Given the description of an element on the screen output the (x, y) to click on. 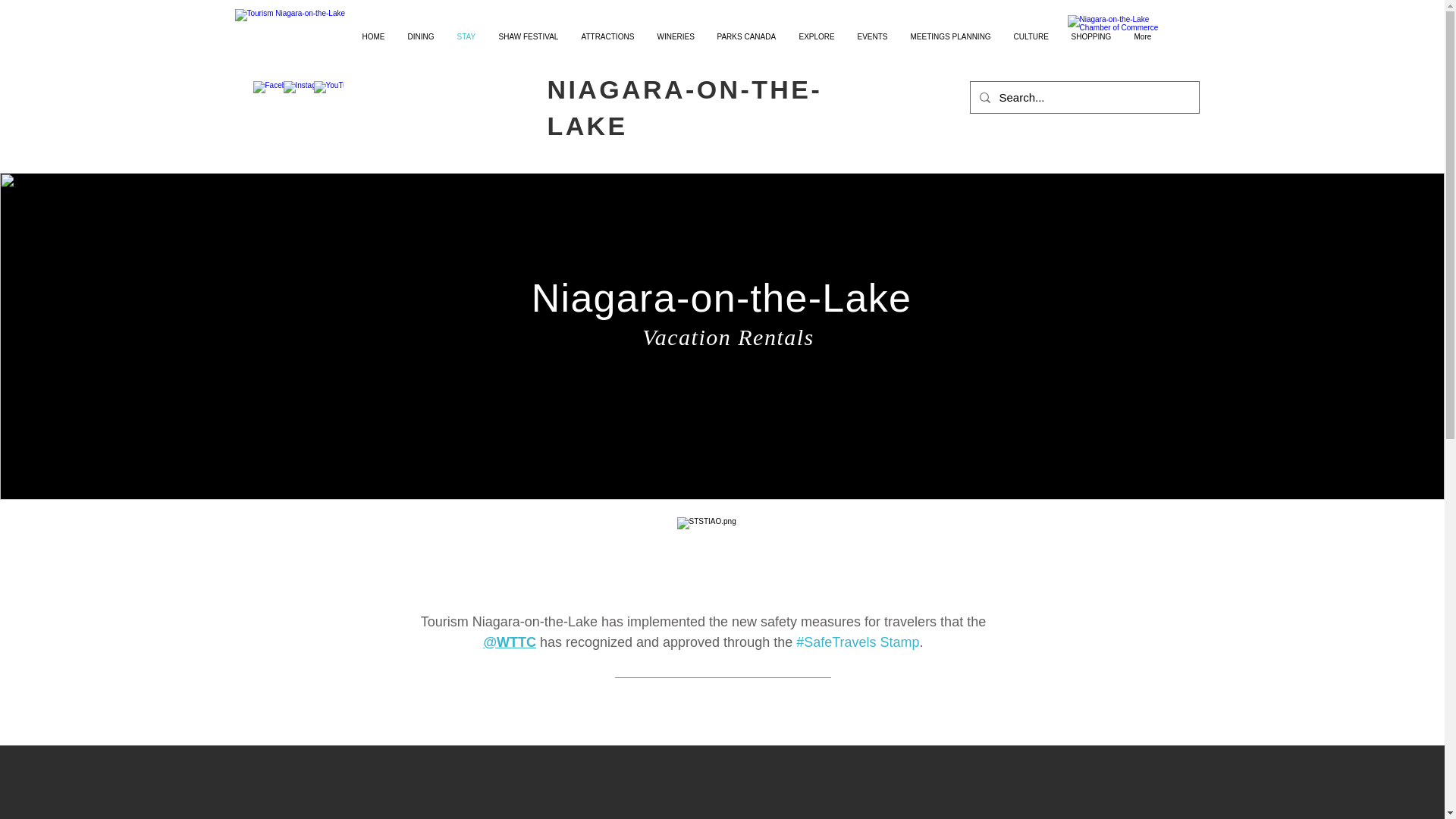
PARKS CANADA (745, 36)
DINING (420, 36)
STAY (466, 36)
ATTRACTIONS (608, 36)
SHAW FESTIVAL (527, 36)
HOME (373, 36)
Visit the Niagara-on-the-Lake Chamber of Commerce Website (1123, 36)
EXPLORE (816, 36)
WINERIES (676, 36)
